Given the description of an element on the screen output the (x, y) to click on. 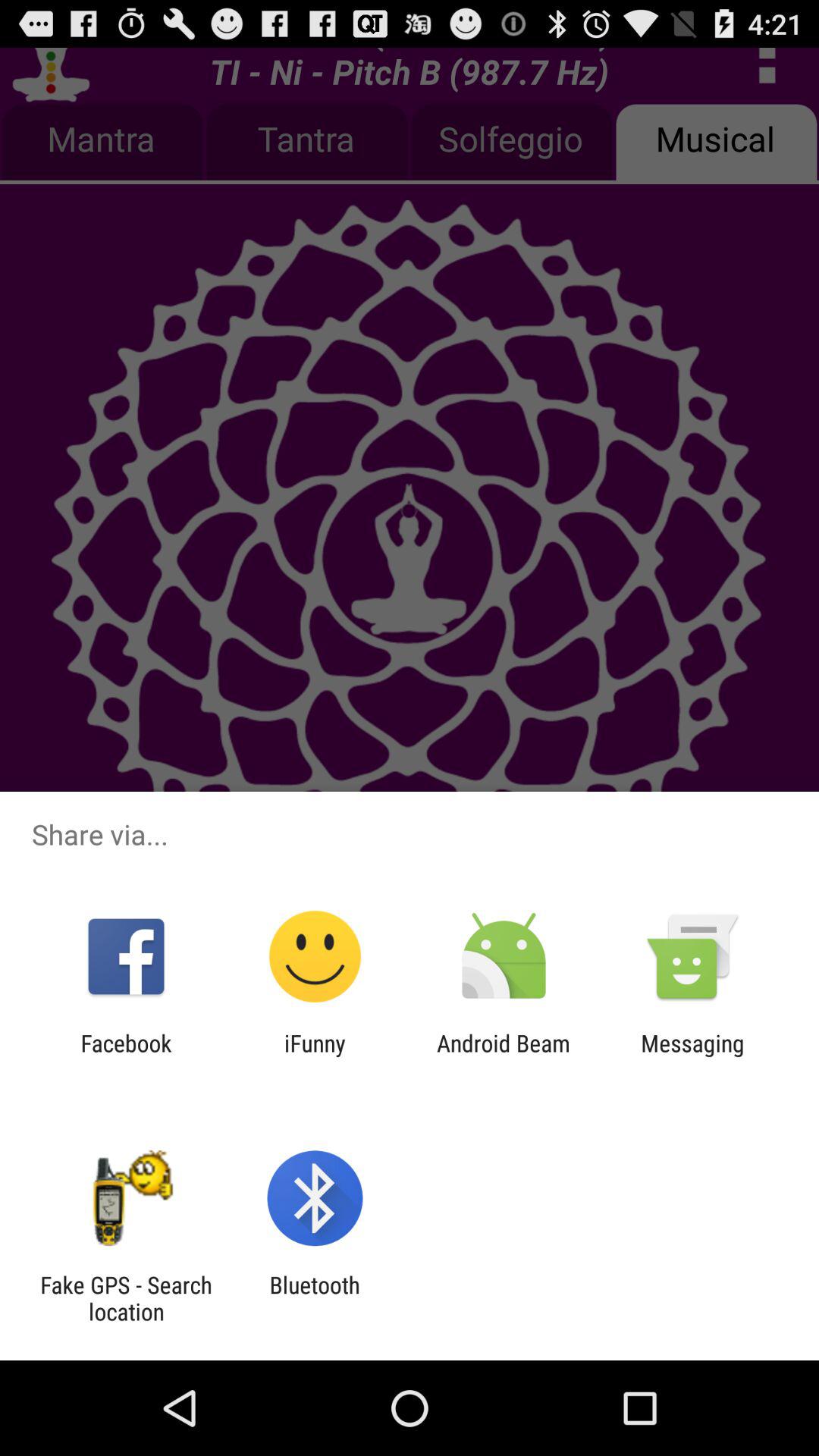
turn on icon to the right of the android beam (692, 1056)
